Given the description of an element on the screen output the (x, y) to click on. 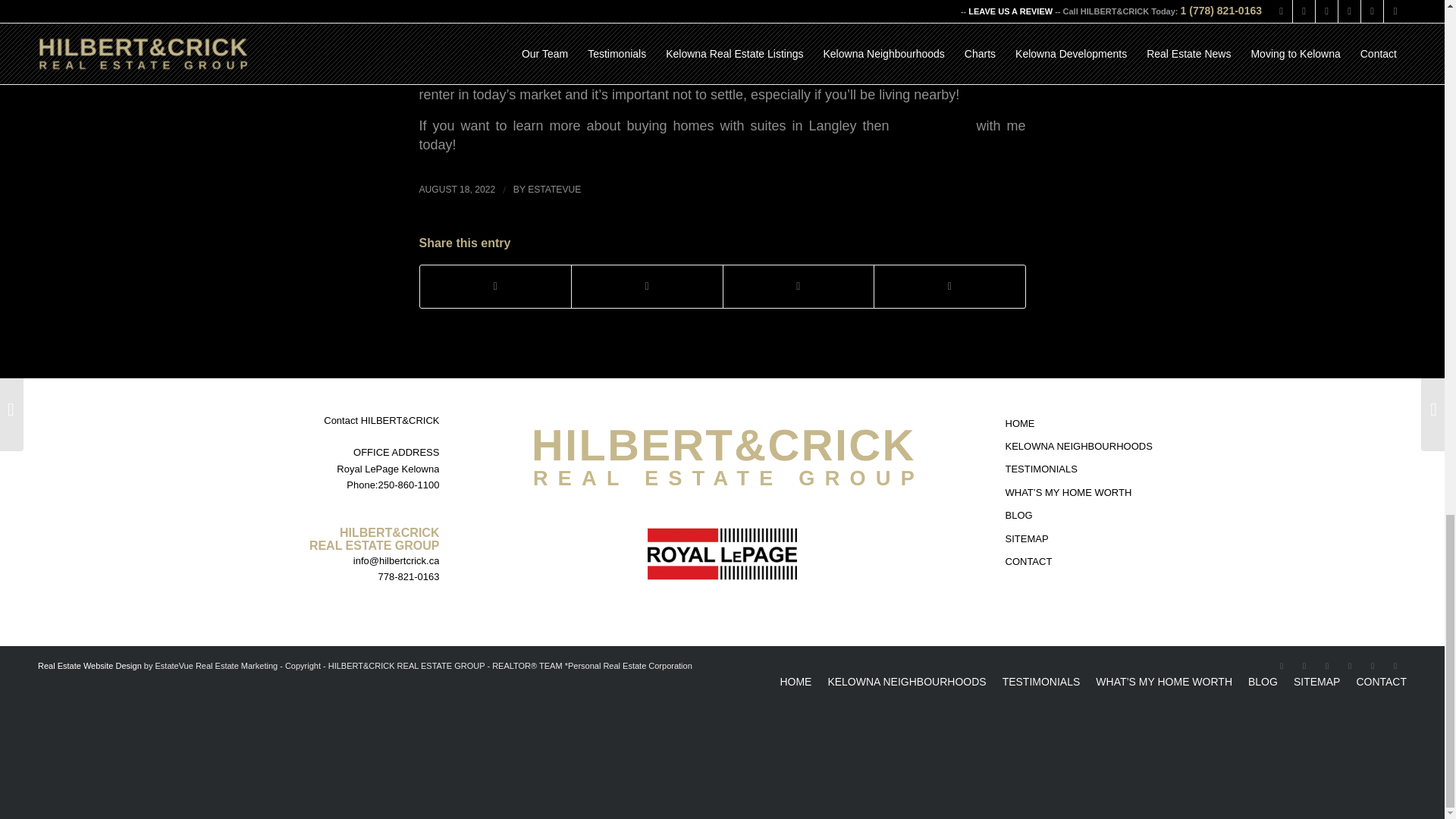
Posts by EstateVue (553, 189)
